Given the description of an element on the screen output the (x, y) to click on. 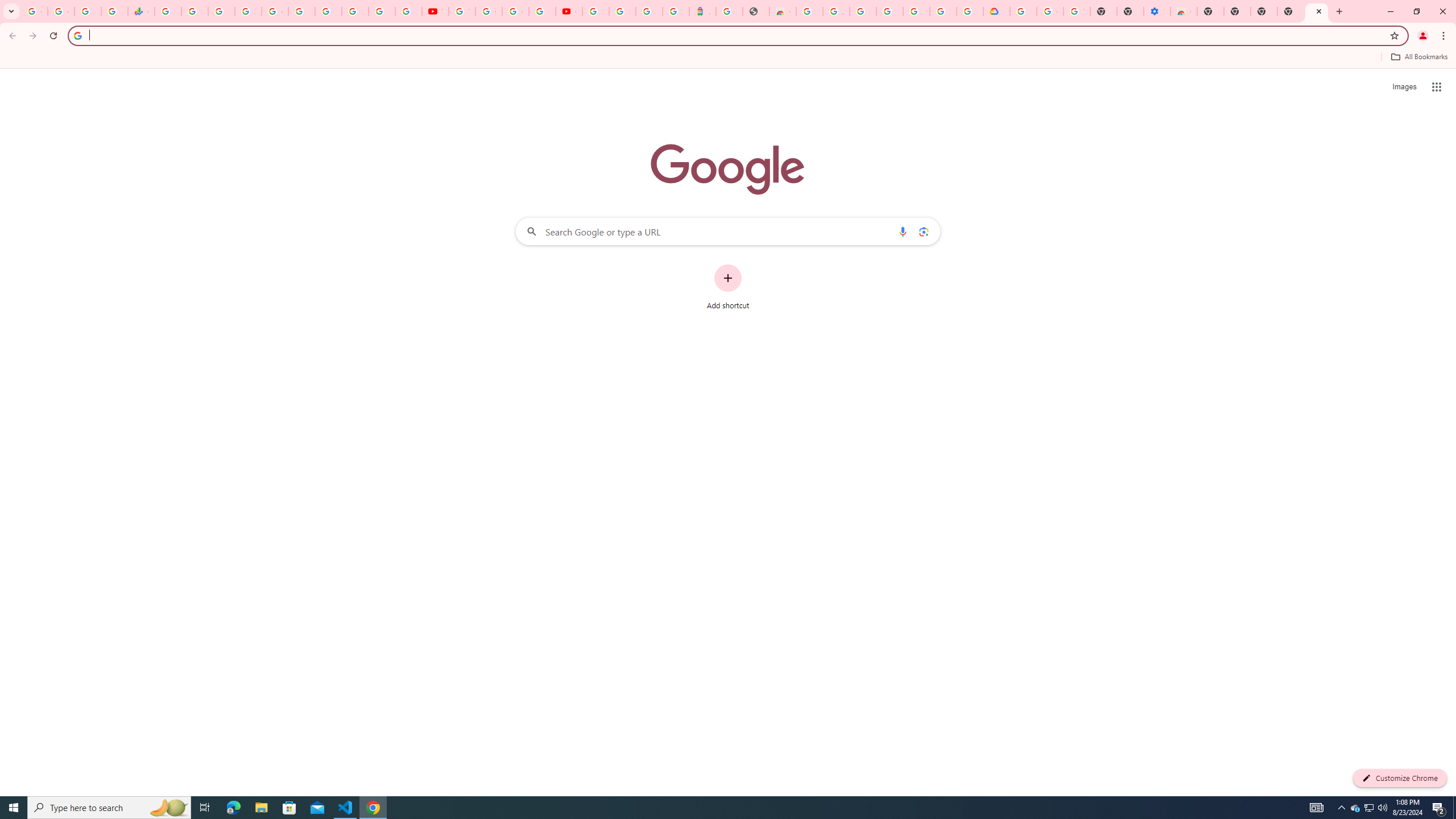
New Tab (1210, 11)
Sign in - Google Accounts (1023, 11)
Chrome Web Store - Household (782, 11)
Sign in - Google Accounts (862, 11)
Turn cookies on or off - Computer - Google Account Help (1076, 11)
Sign in - Google Accounts (248, 11)
New Tab (1290, 11)
